Given the description of an element on the screen output the (x, y) to click on. 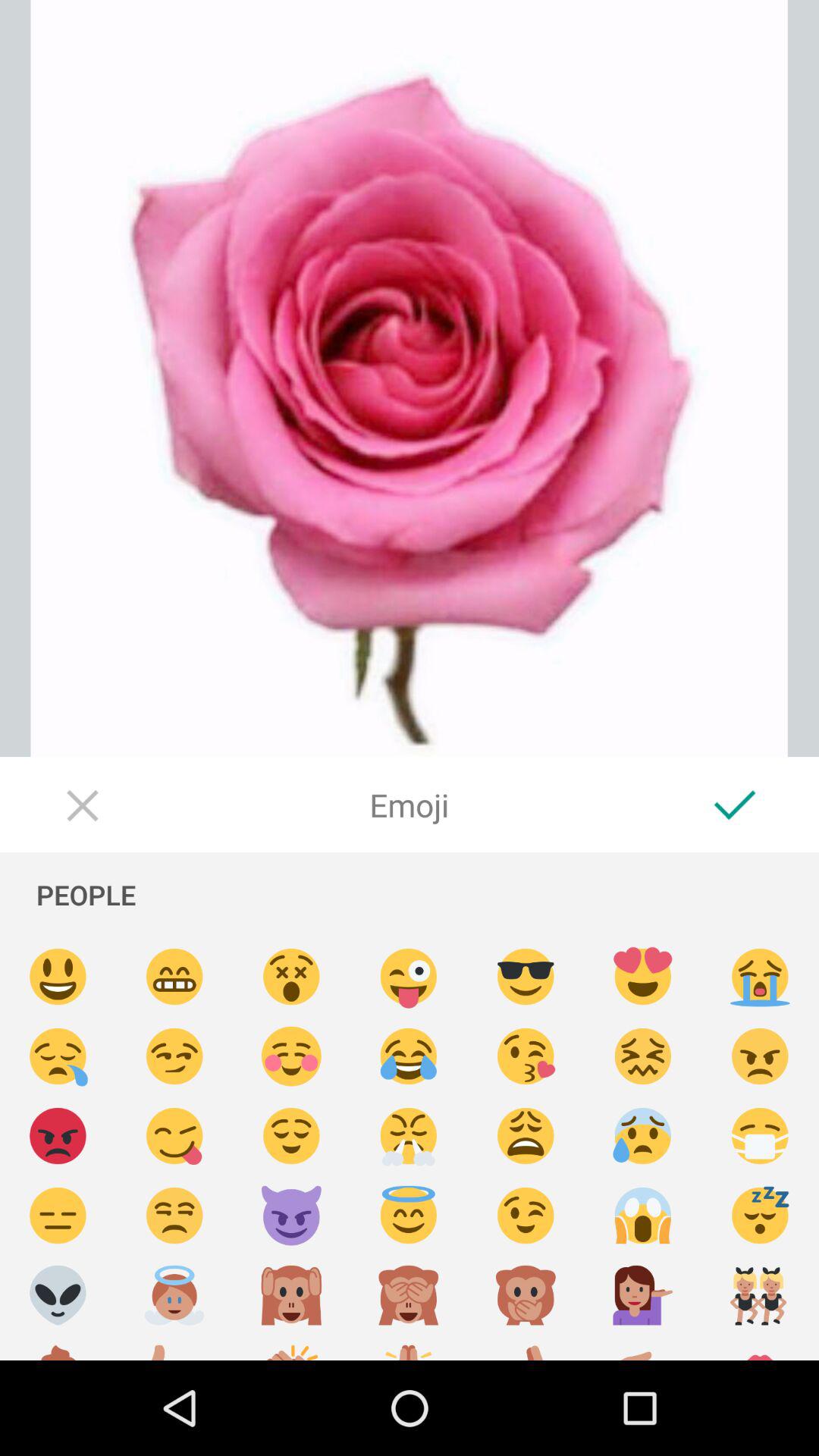
emoji button (408, 976)
